Given the description of an element on the screen output the (x, y) to click on. 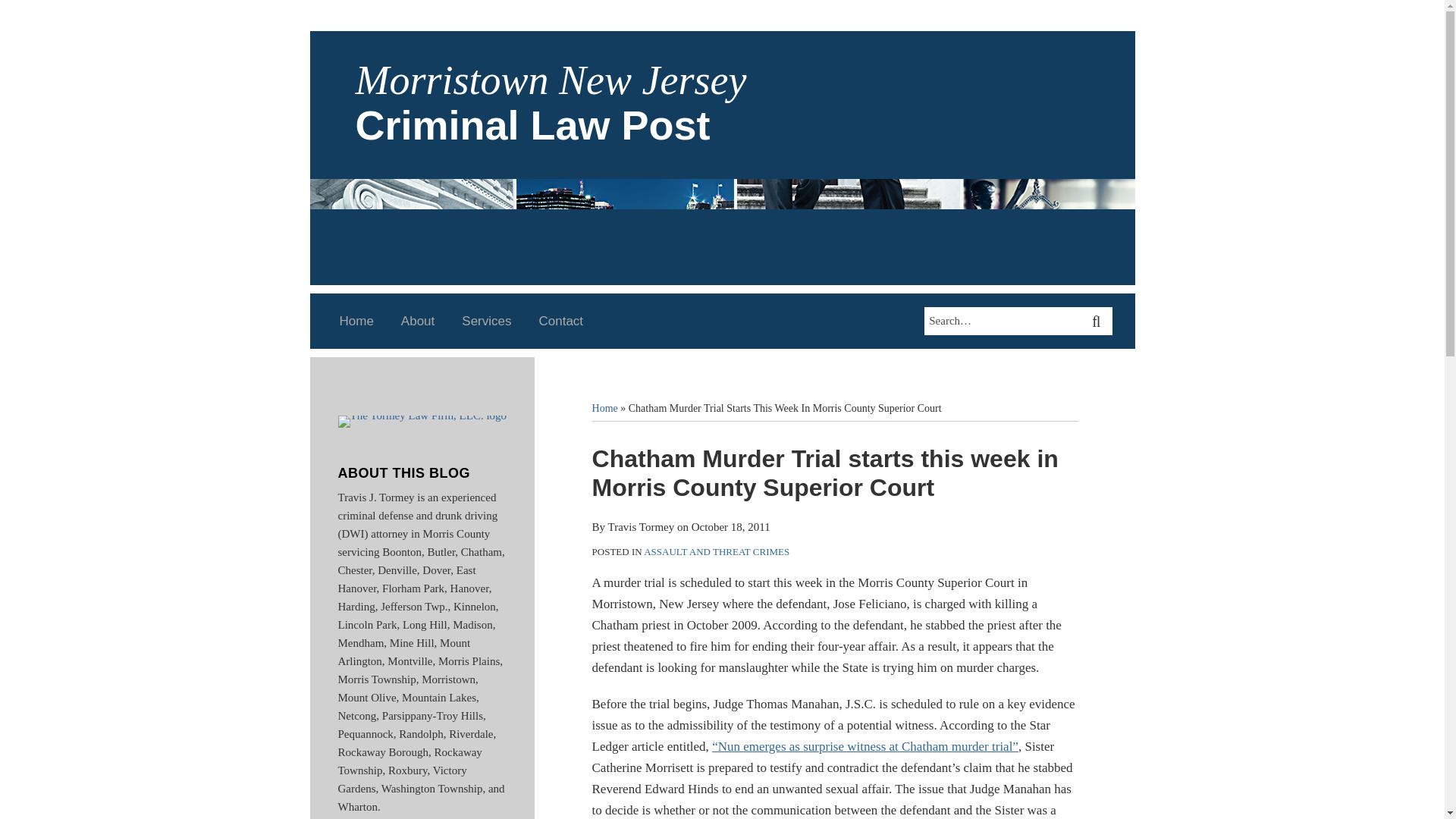
ASSAULT AND THREAT CRIMES (716, 551)
About (417, 321)
SEARCH (1098, 321)
Services (486, 321)
Home (356, 321)
Home (604, 408)
Contact (560, 321)
Chatham NJ Criminal Defense Lawyers (864, 746)
Morristown New Jersey Criminal Law Post (550, 102)
